Given the description of an element on the screen output the (x, y) to click on. 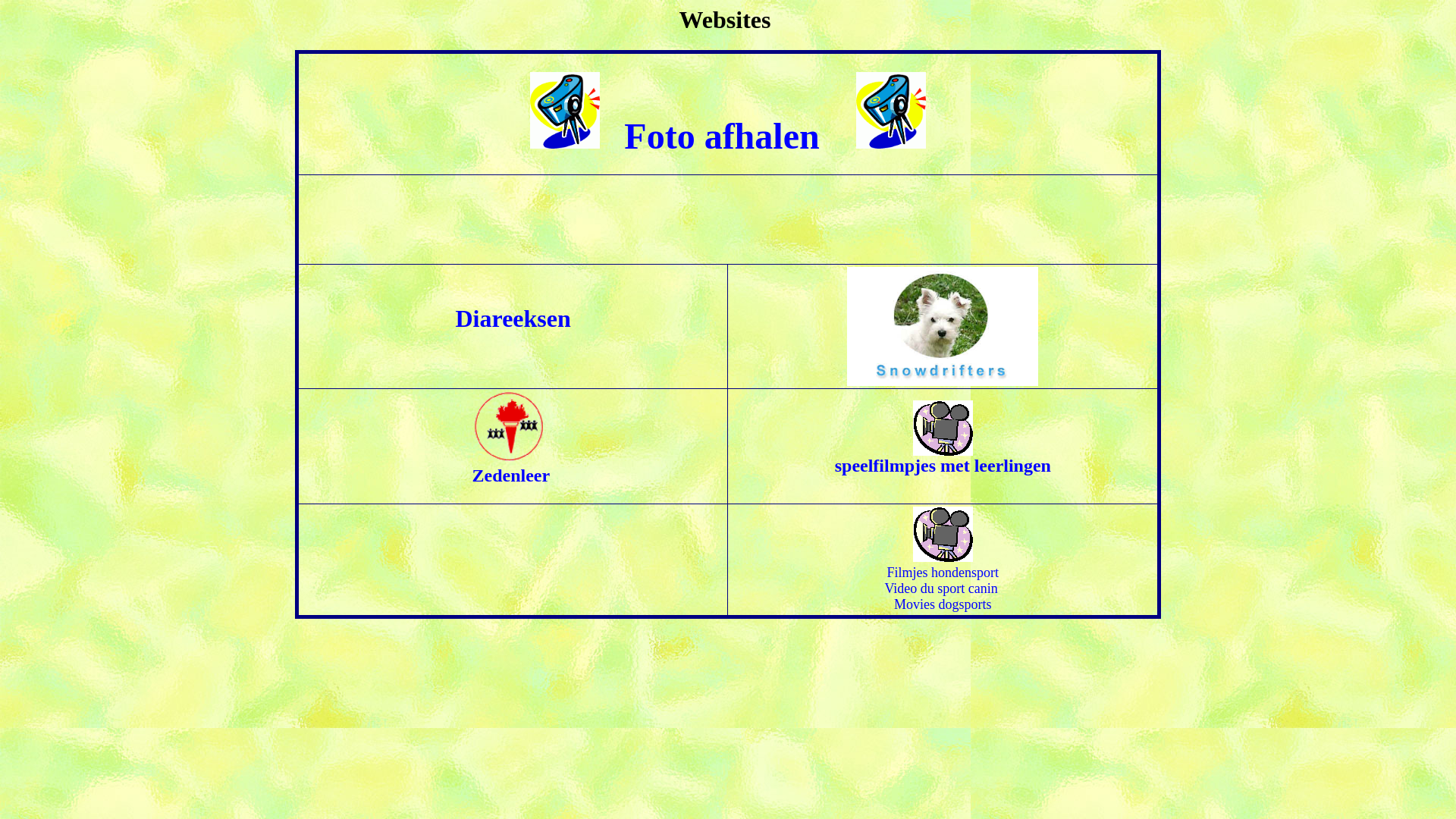
Foto afhalen Element type: text (721, 136)
Movies dogsports Element type: text (947, 612)
  Element type: text (619, 144)
speelfilmpjes met leerlingen Element type: text (942, 457)
  
    Zedenleer Element type: text (503, 465)
Diareeksen Element type: text (512, 320)
Filmjes hondensport
Video du sport canin Element type: text (941, 588)
